Given the description of an element on the screen output the (x, y) to click on. 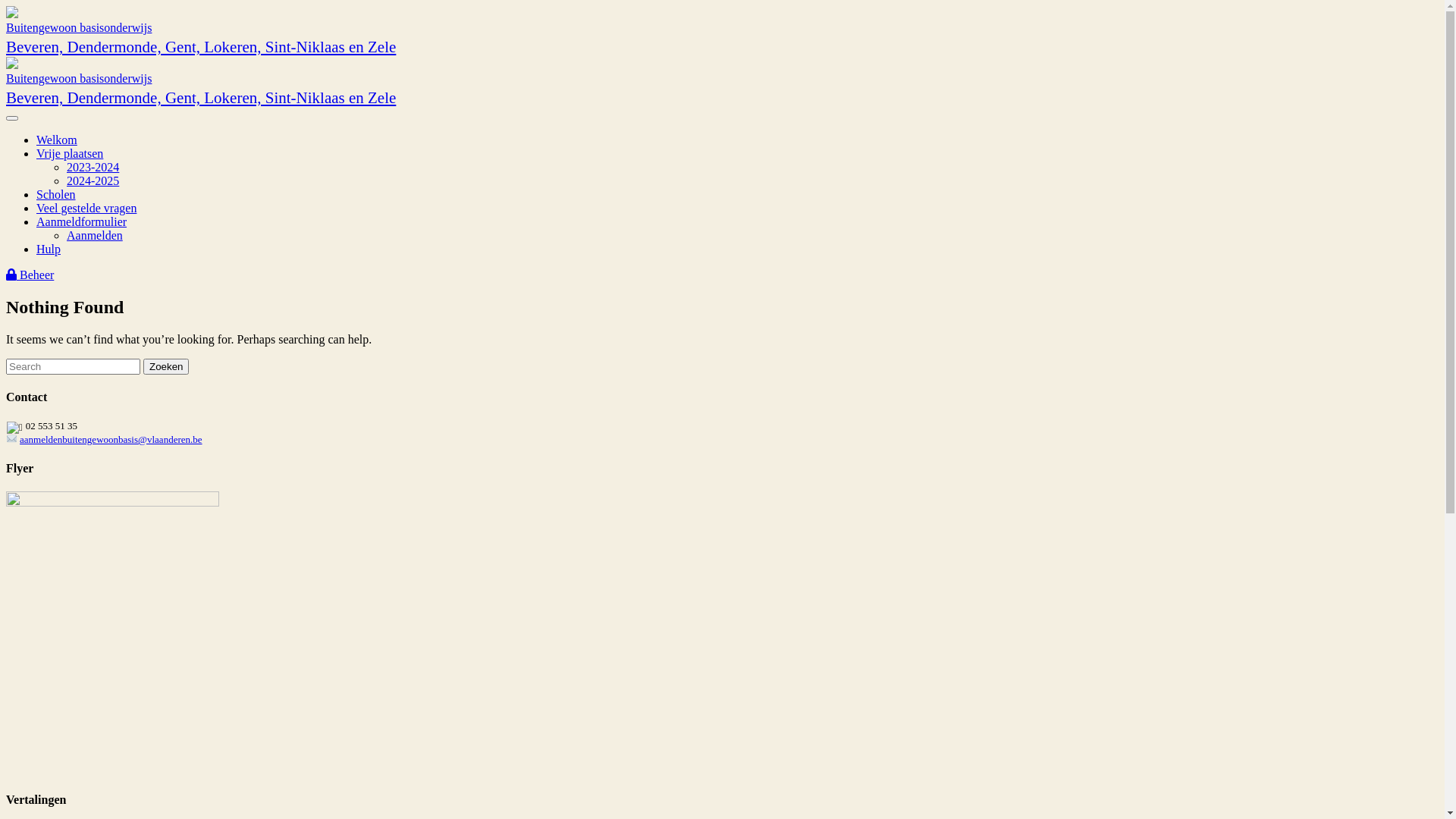
Hulp Element type: text (48, 248)
Aanmeldformulier Element type: text (81, 221)
Vrije plaatsen Element type: text (69, 153)
2023-2024 Element type: text (92, 166)
Zoeken Element type: text (165, 366)
Beheer Element type: text (29, 274)
Aanmelden Element type: text (94, 235)
Veel gestelde vragen Element type: text (86, 207)
Welkom Element type: text (56, 139)
2024-2025 Element type: text (92, 180)
Scholen Element type: text (55, 194)
aanmeldenbuitengewoonbasis@vlaanderen.be Element type: text (110, 439)
